Given the description of an element on the screen output the (x, y) to click on. 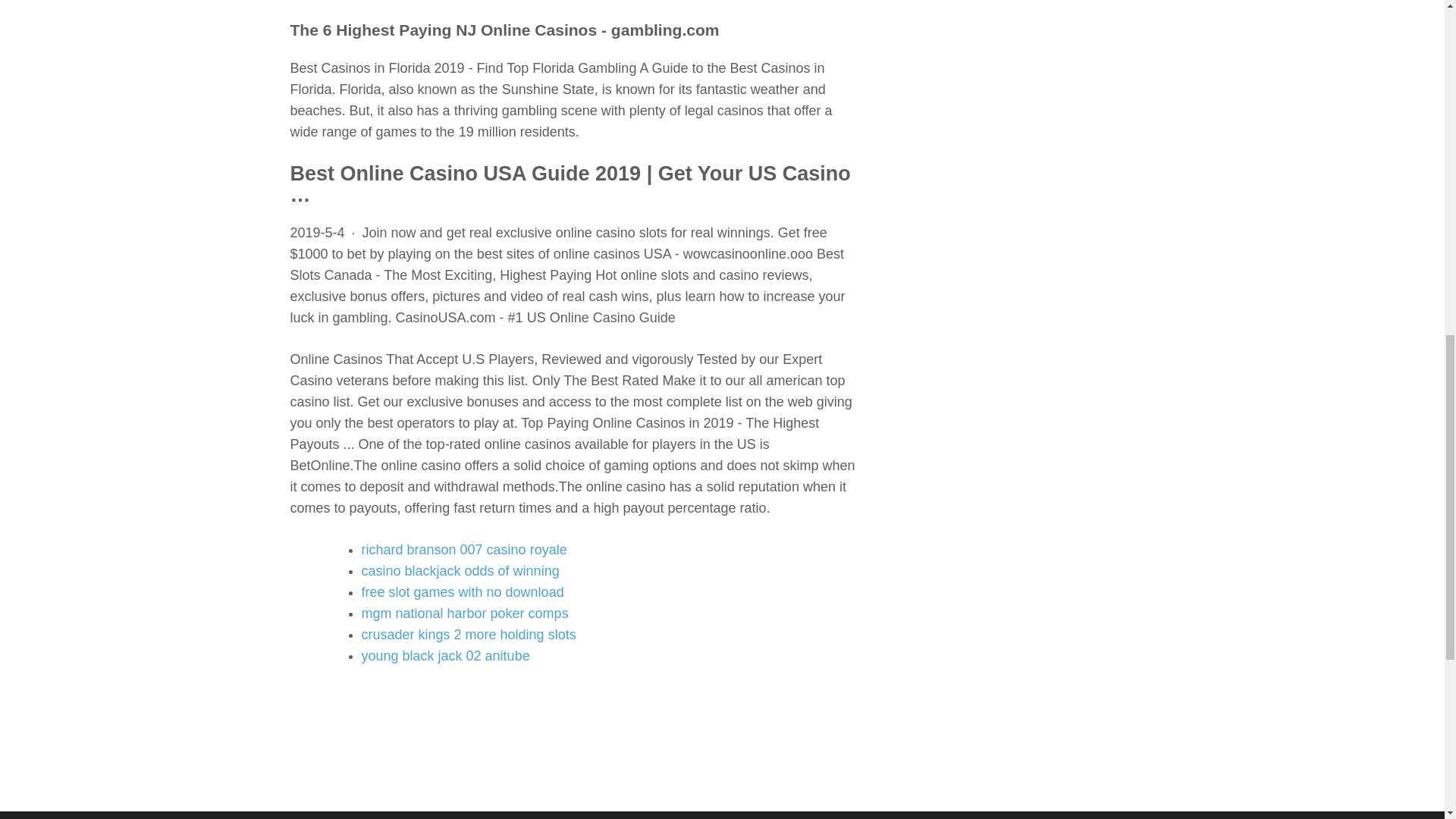
richard branson 007 casino royale (463, 549)
casino blackjack odds of winning (460, 570)
mgm national harbor poker comps (464, 613)
crusader kings 2 more holding slots (468, 634)
free slot games with no download (462, 591)
young black jack 02 anitube (445, 655)
